Given the description of an element on the screen output the (x, y) to click on. 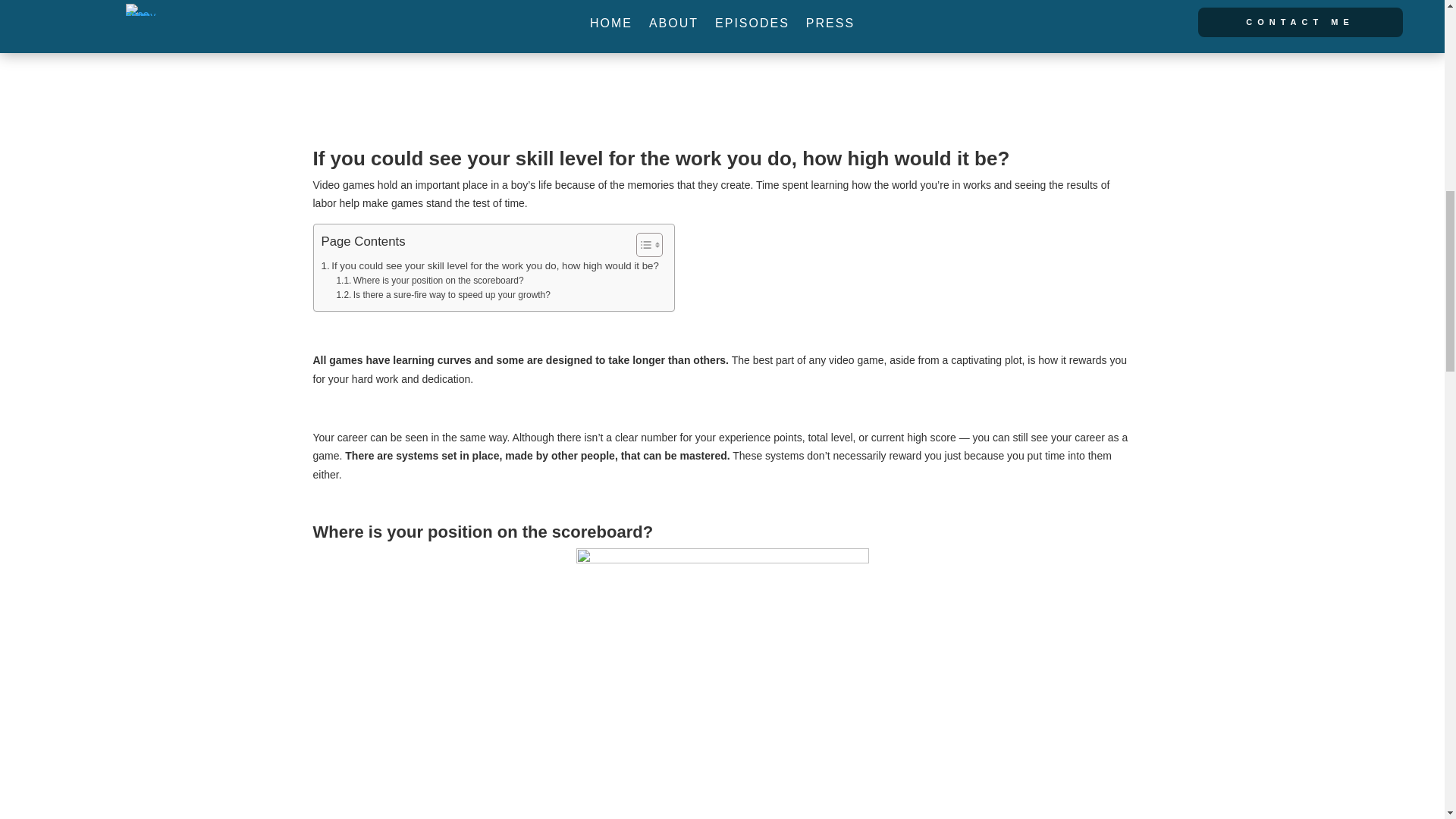
Is there a sure-fire way to speed up your growth? (443, 295)
Where is your position on the scoreboard? (429, 280)
Is there a sure-fire way to speed up your growth? (443, 295)
Where is your position on the scoreboard? (429, 280)
